Given the description of an element on the screen output the (x, y) to click on. 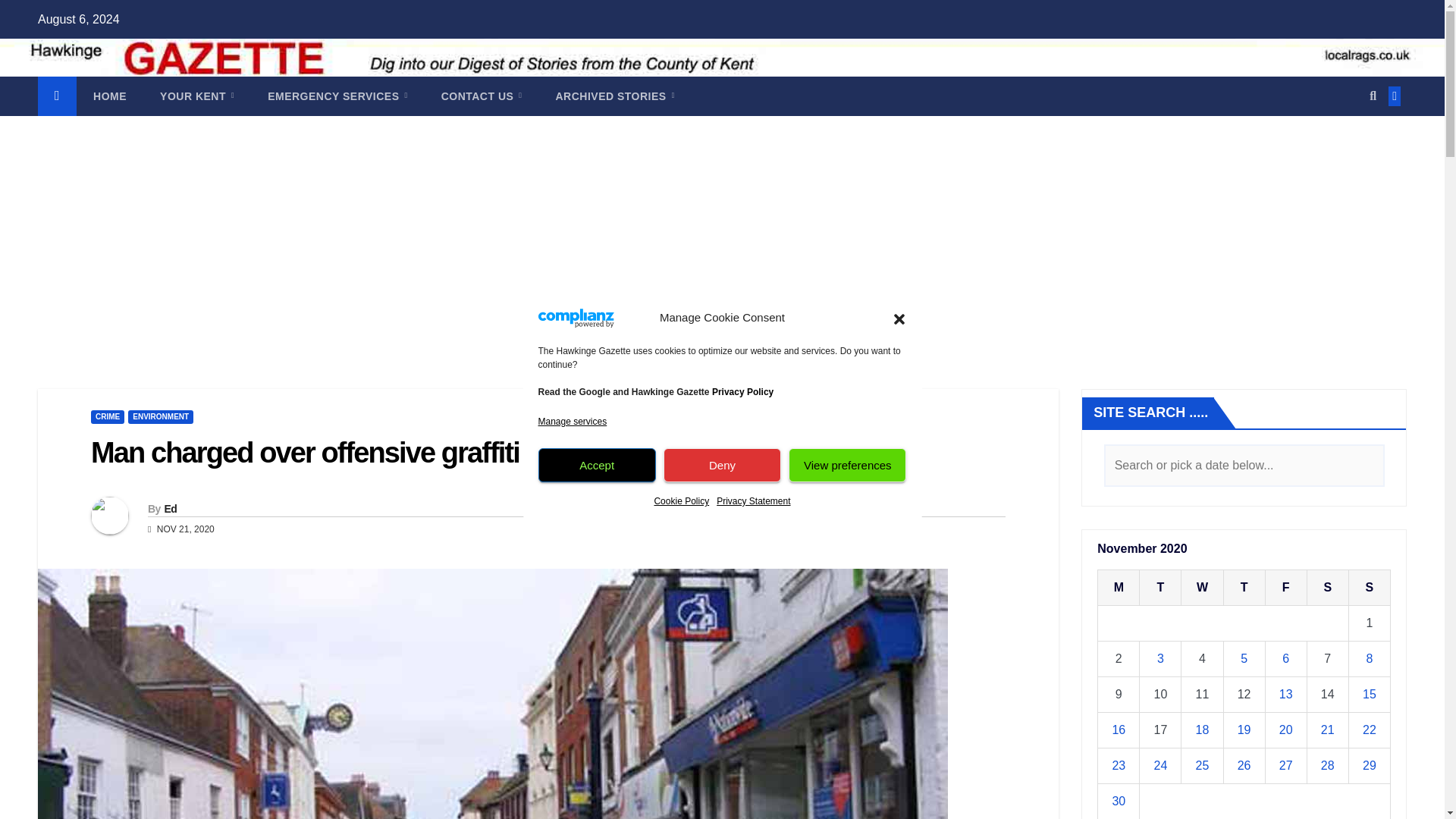
View preferences (847, 464)
Privacy Policy (742, 391)
YOUR KENT (196, 96)
Deny (721, 464)
YOUR KENT (196, 96)
HOME (109, 96)
Manage services (572, 421)
Accept (597, 464)
Cookie Policy (681, 500)
Privacy Statement (753, 500)
HOME (109, 96)
